Given the description of an element on the screen output the (x, y) to click on. 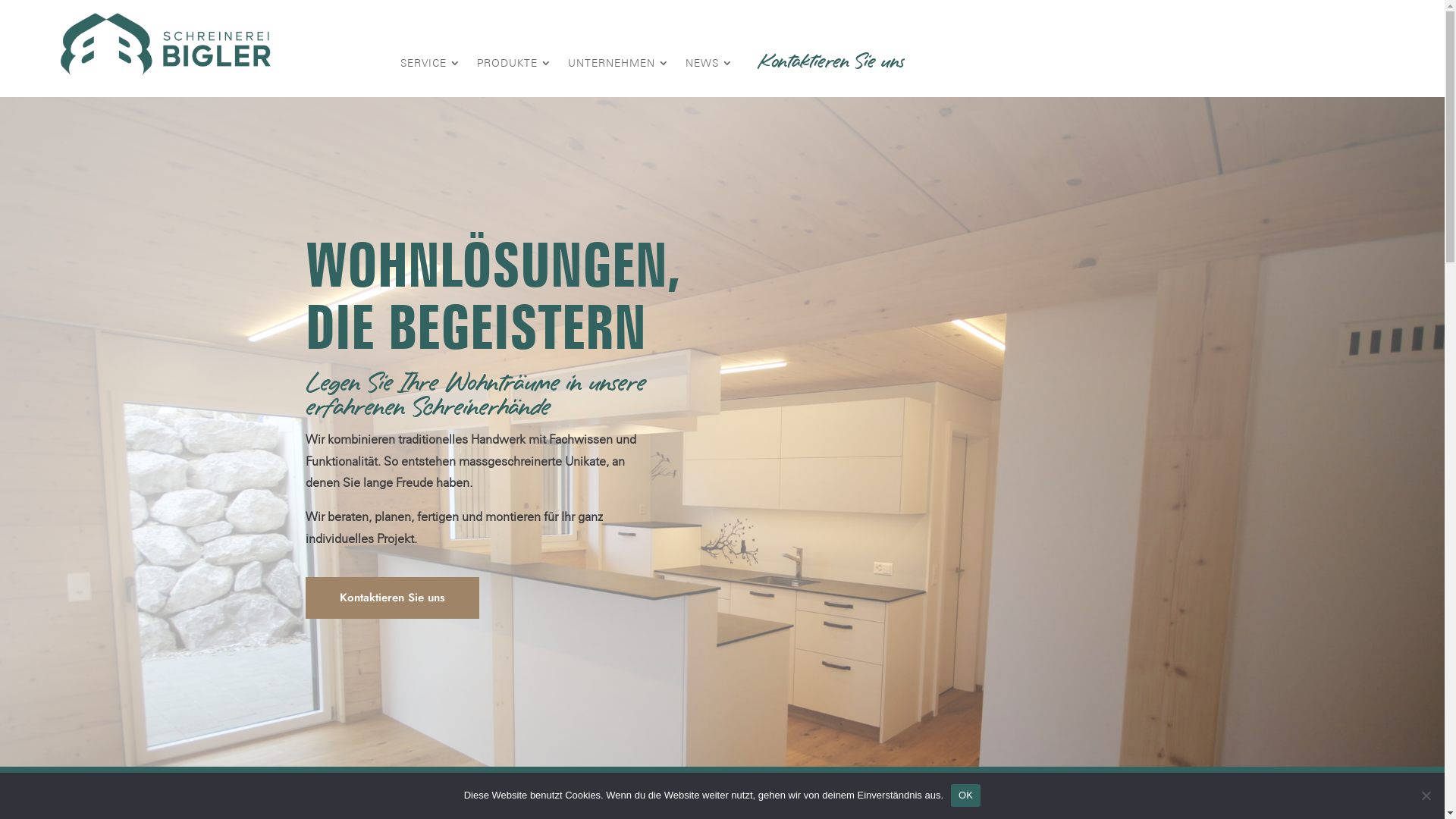
Kontaktieren Sie uns Element type: text (391, 598)
SERVICE Element type: text (429, 62)
PRODUKTE Element type: text (512, 62)
OK Element type: text (965, 795)
Nein Element type: hover (1425, 795)
UNTERNEHMEN Element type: text (617, 62)
Kontaktieren Sie uns Element type: text (830, 63)
NEWS Element type: text (708, 62)
